Given the description of an element on the screen output the (x, y) to click on. 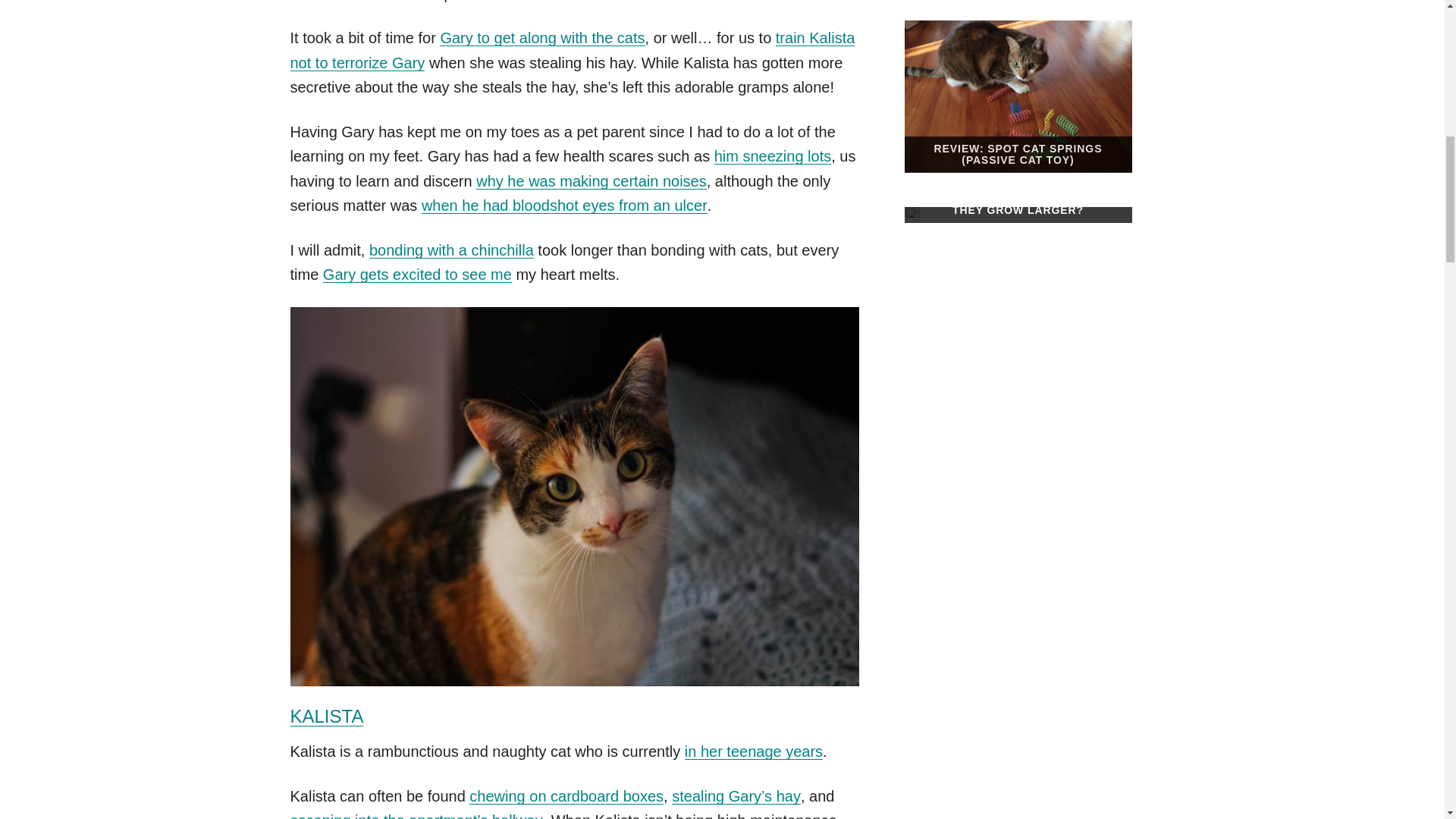
Gary to get along with the cats (542, 37)
